Given the description of an element on the screen output the (x, y) to click on. 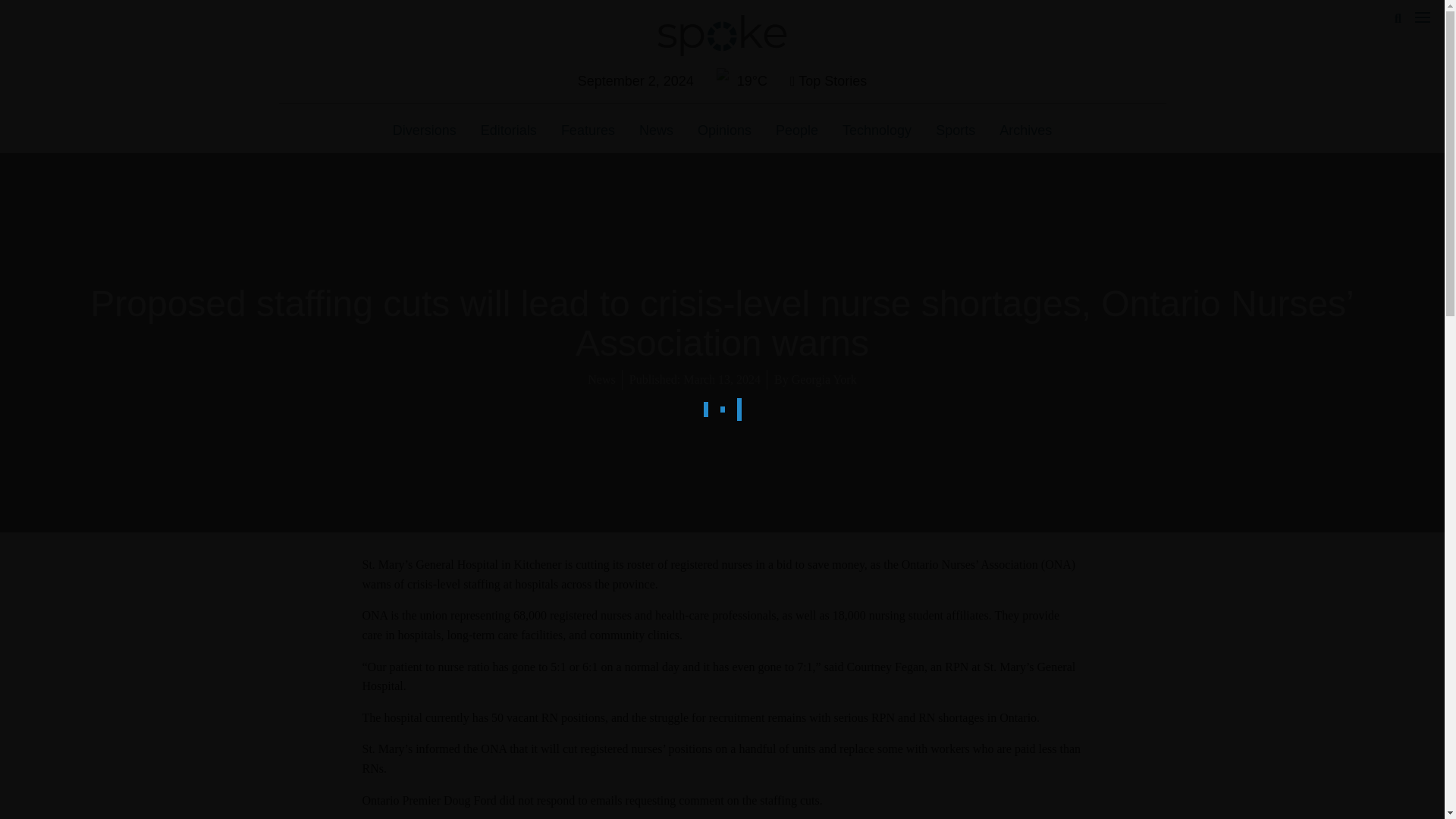
News (656, 130)
Editorials (508, 130)
Opinions (723, 130)
News (601, 379)
Features (587, 130)
Sports (955, 130)
Georgia York (824, 379)
People (795, 130)
Diversions (424, 130)
Archives (1025, 130)
